Given the description of an element on the screen output the (x, y) to click on. 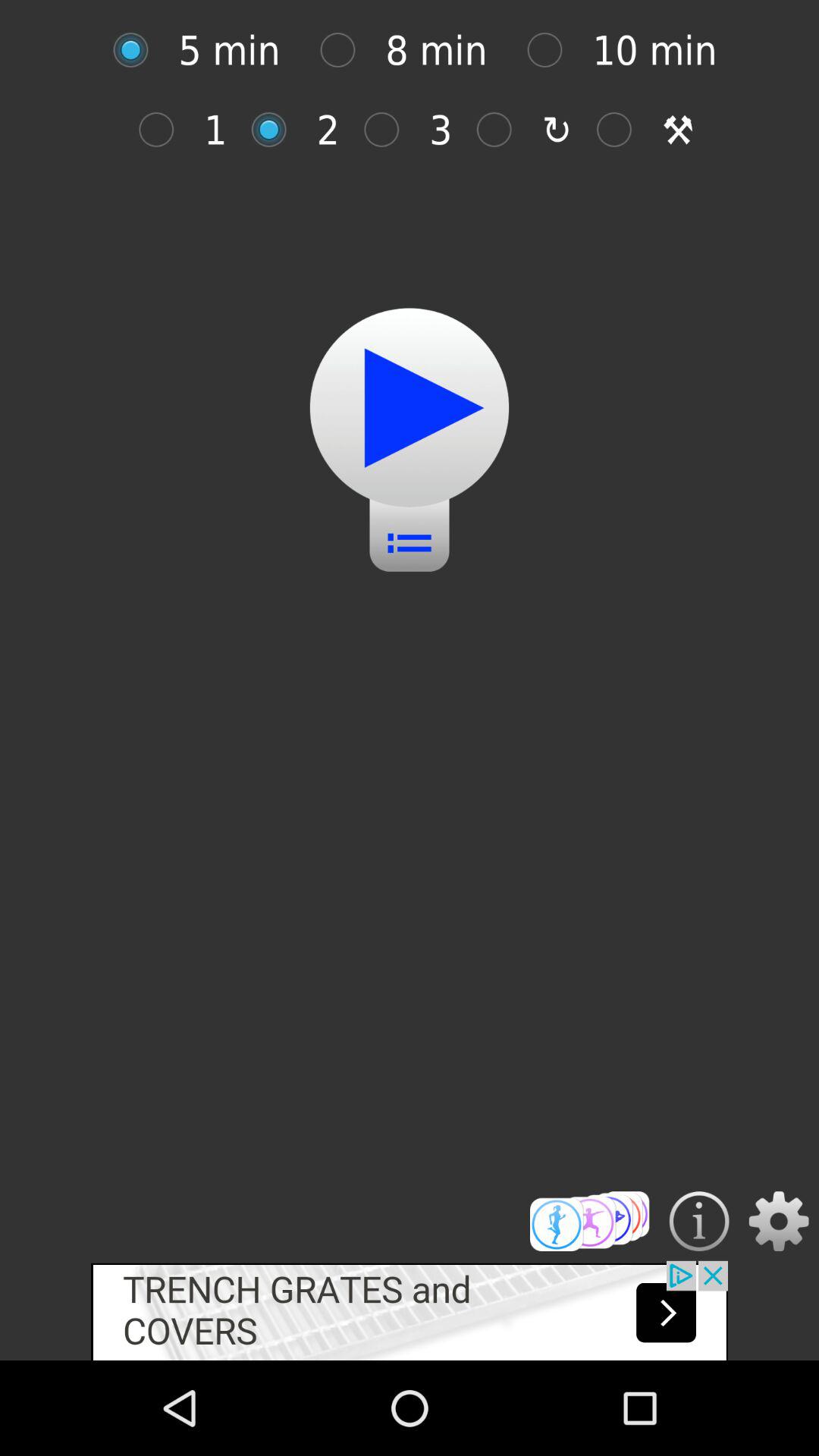
5 minutes (138, 49)
